Given the description of an element on the screen output the (x, y) to click on. 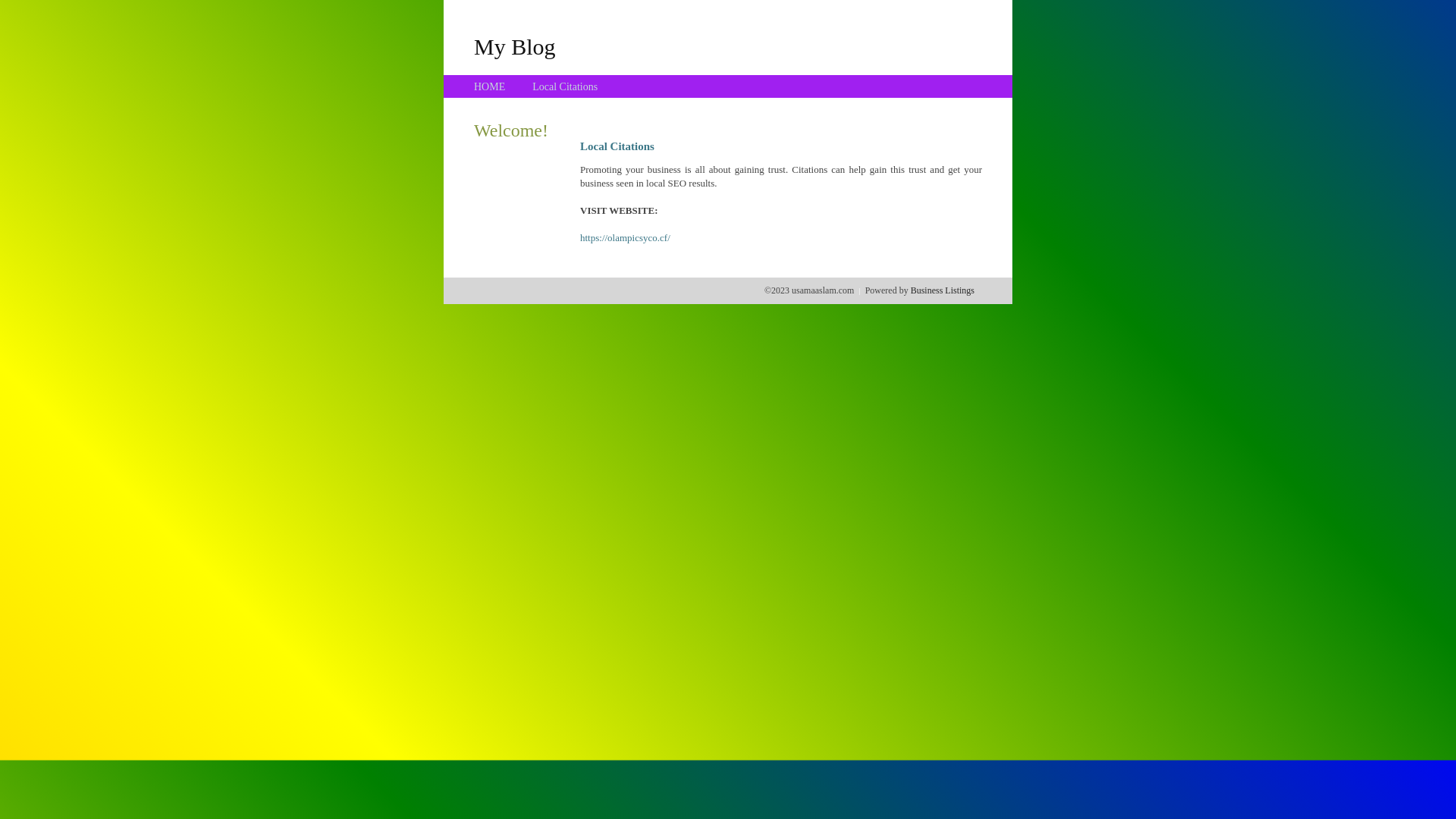
HOME Element type: text (489, 86)
My Blog Element type: text (514, 46)
Local Citations Element type: text (564, 86)
Business Listings Element type: text (942, 290)
https://olampicsyco.cf/ Element type: text (625, 237)
